Given the description of an element on the screen output the (x, y) to click on. 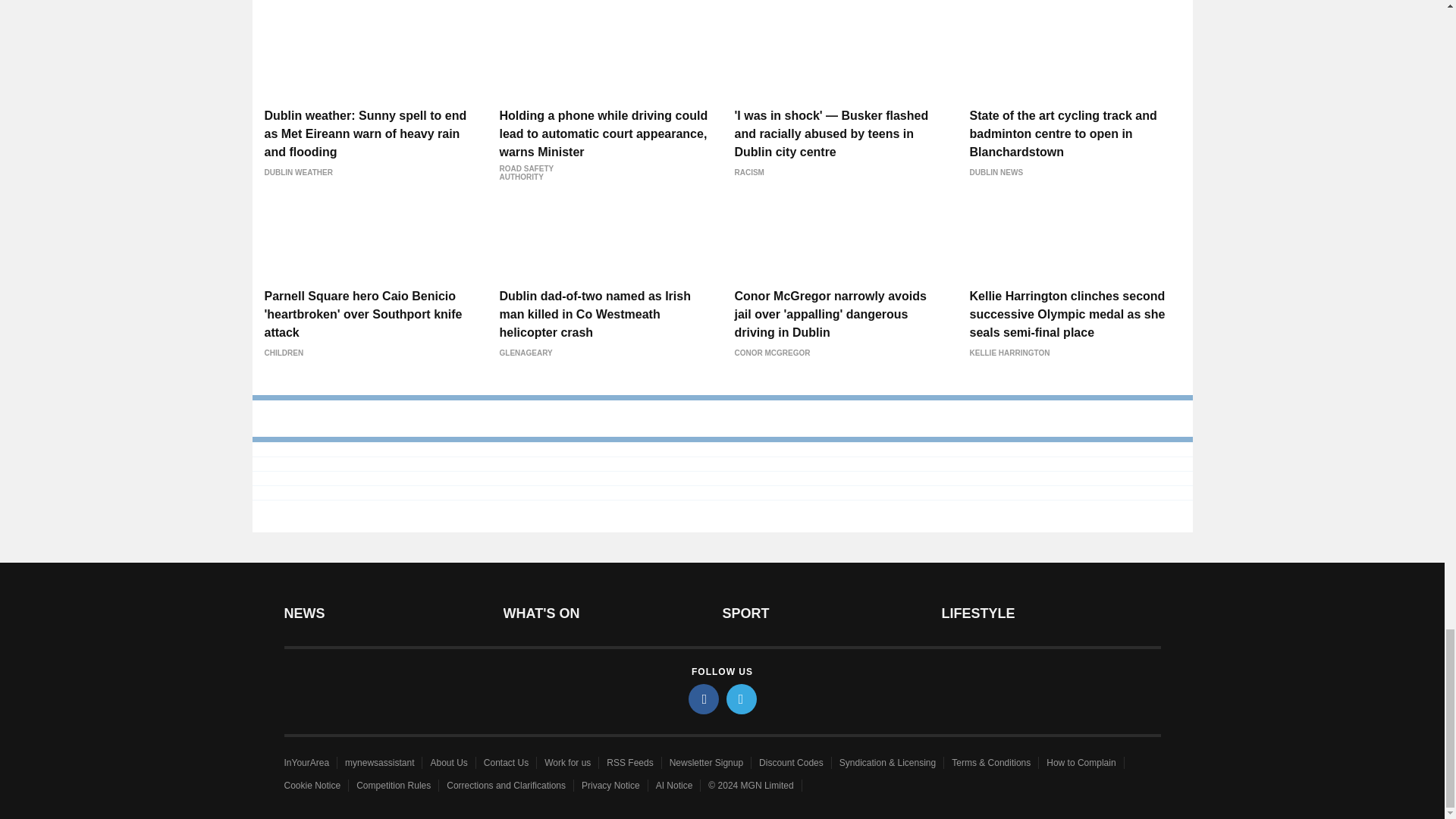
facebook (703, 698)
twitter (741, 698)
